Given the description of an element on the screen output the (x, y) to click on. 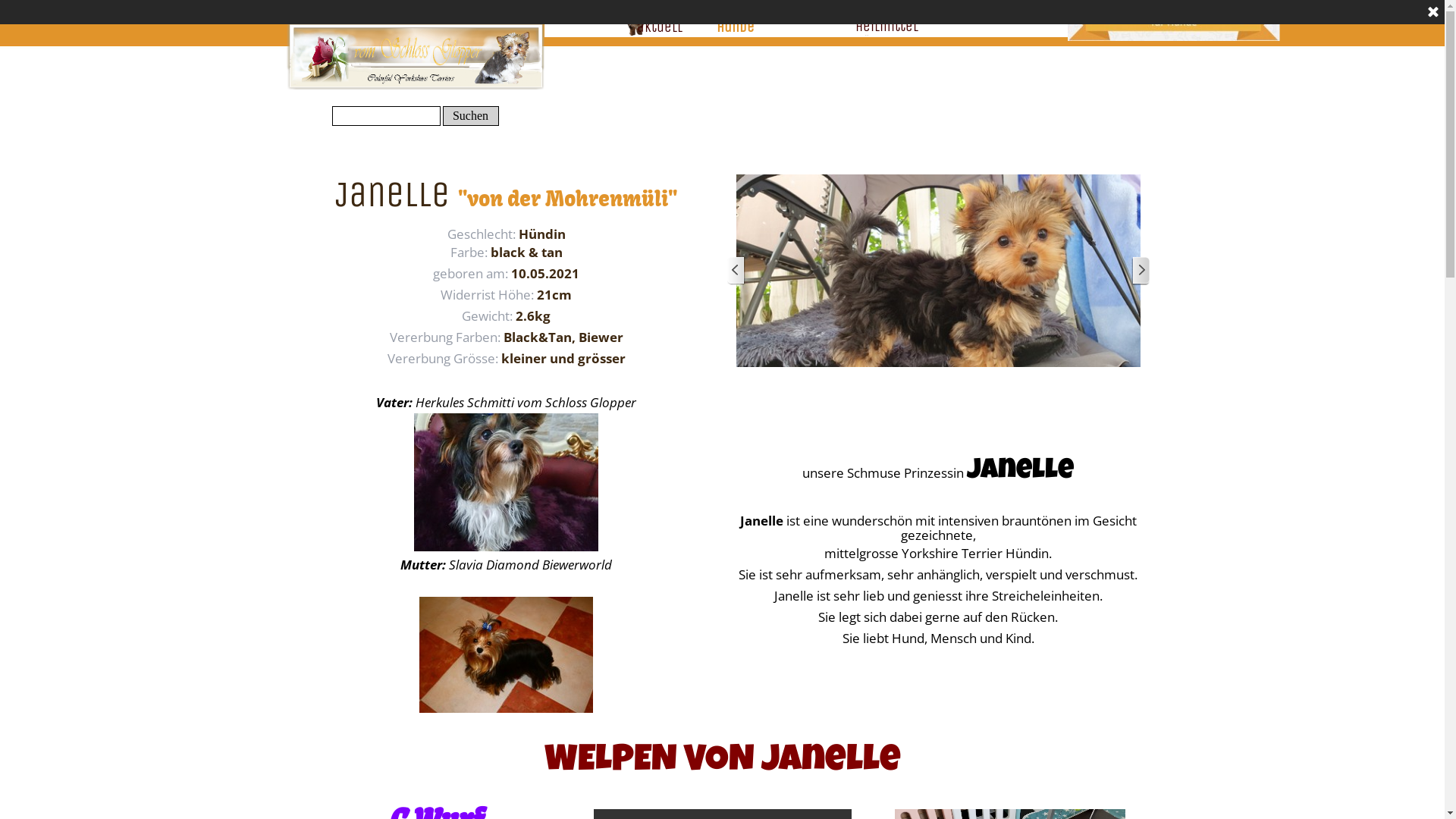
Suchen Element type: text (470, 115)
HOME Element type: text (583, 18)
Info Element type: text (962, 18)
HUNDE aktuell Element type: text (658, 18)
Hund.ch Element type: text (403, 8)
Contact Element type: text (1038, 18)
